Given the description of an element on the screen output the (x, y) to click on. 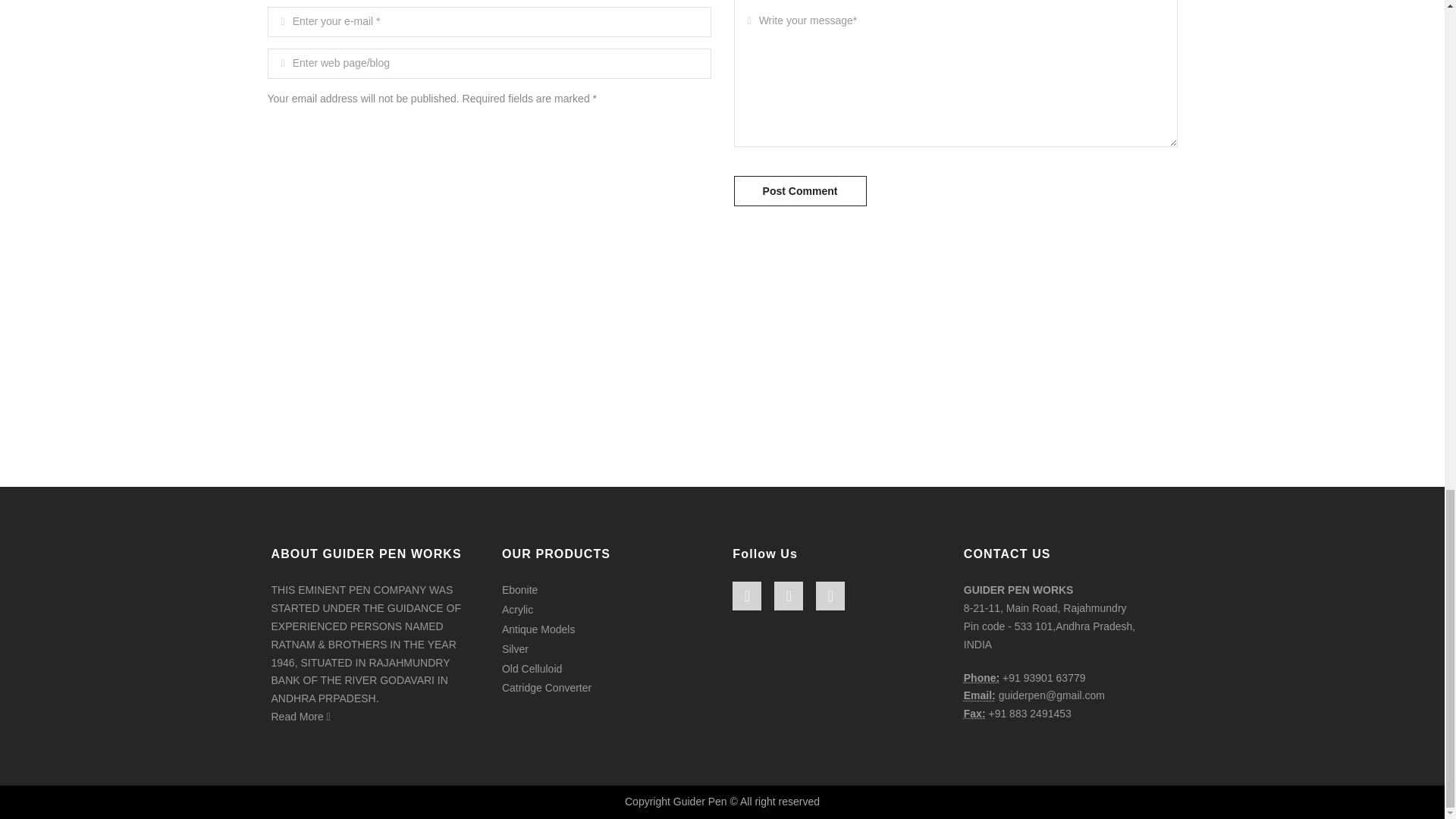
Fax (974, 713)
Post Comment (799, 191)
Email Address (979, 695)
Phone Number (980, 677)
Post Comment (799, 191)
